Given the description of an element on the screen output the (x, y) to click on. 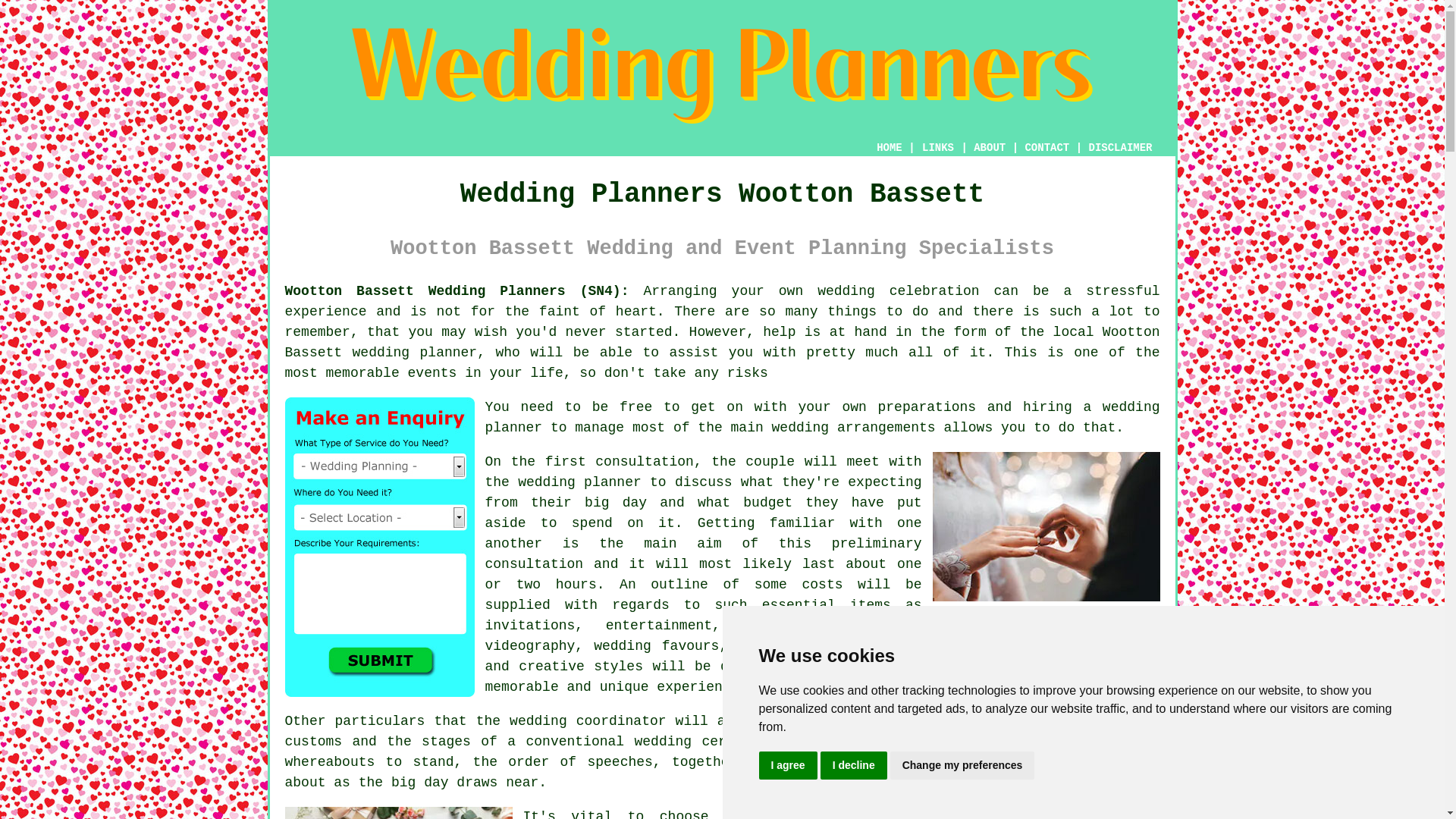
I decline (853, 765)
Change my preferences (962, 765)
Wedding Planners Wootton Bassett (721, 75)
LINKS (938, 147)
I agree (787, 765)
HOME (889, 147)
